Given the description of an element on the screen output the (x, y) to click on. 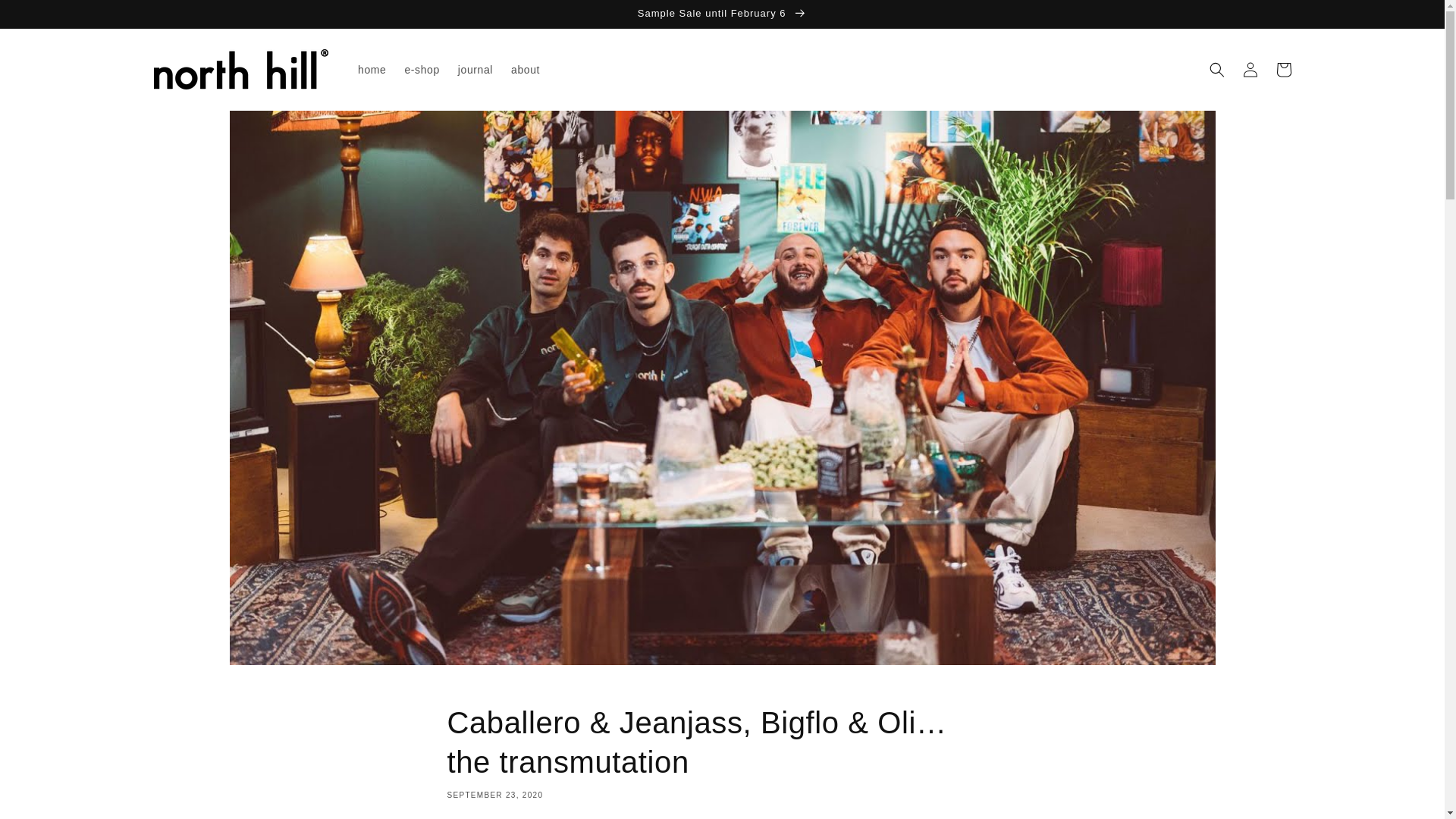
e-shop (421, 69)
Cart (1283, 69)
home (371, 69)
journal (475, 69)
Log in (1249, 69)
about (525, 69)
Skip to content (46, 18)
